Given the description of an element on the screen output the (x, y) to click on. 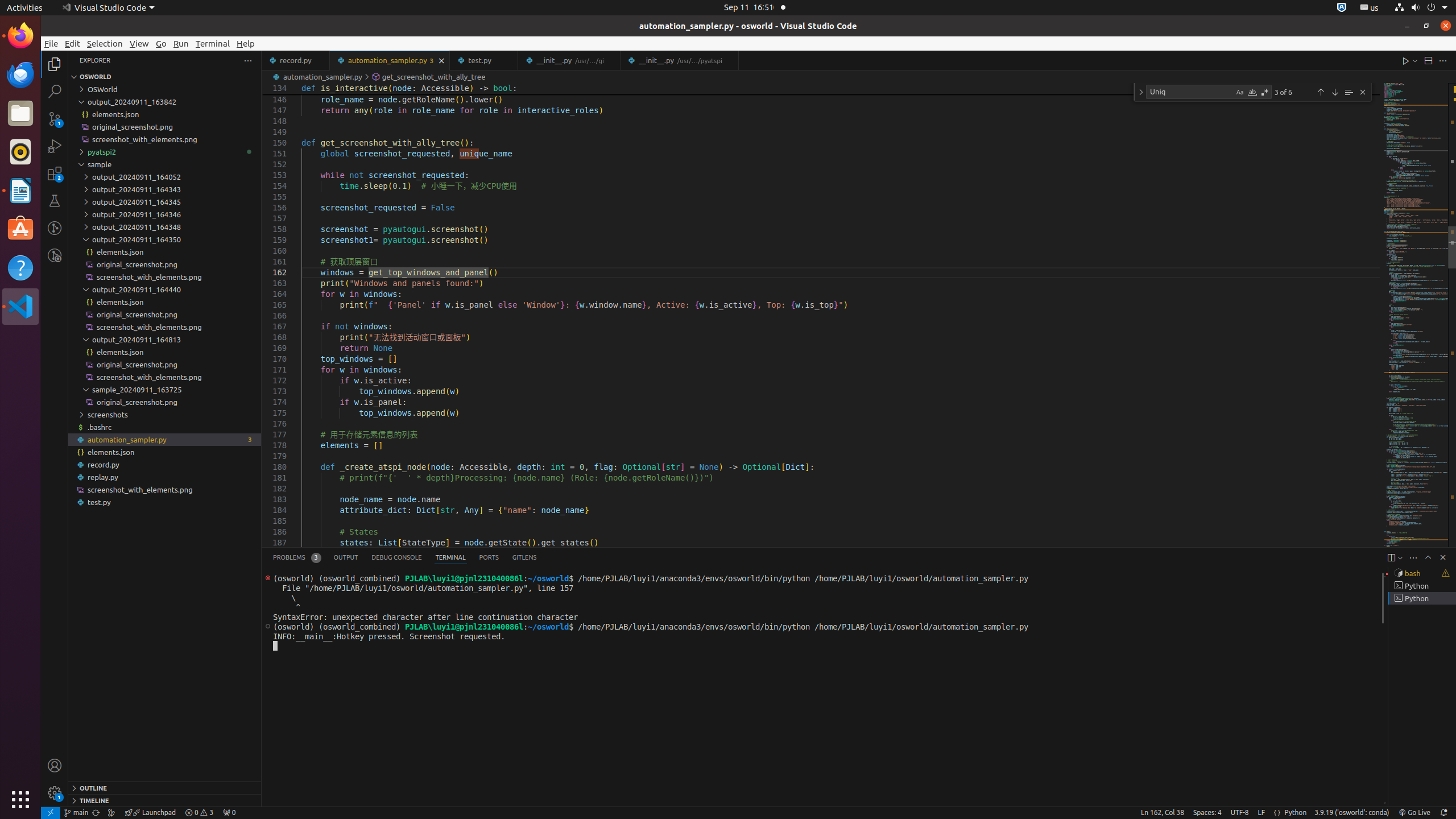
output_20240911_164052 Element type: tree-item (164, 176)
Timeline Section Element type: push-button (164, 799)
Notifications Element type: push-button (1443, 812)
GitLens Element type: page-tab (524, 557)
